Given the description of an element on the screen output the (x, y) to click on. 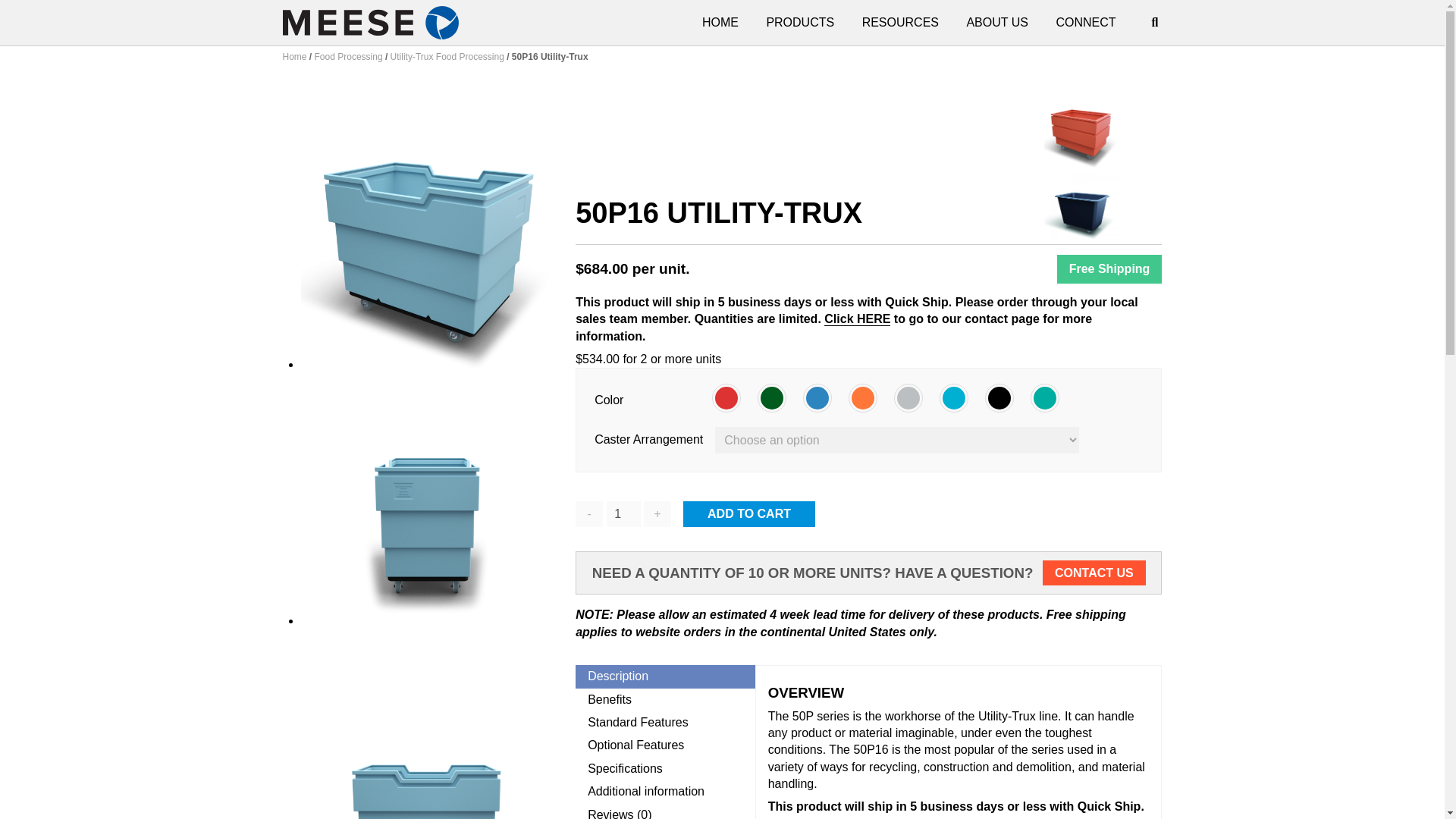
HOME (720, 22)
PRODUCTS (799, 22)
- (588, 514)
1 (623, 514)
ABOUT US (997, 22)
Qty (623, 514)
RESOURCES (900, 22)
